Given the description of an element on the screen output the (x, y) to click on. 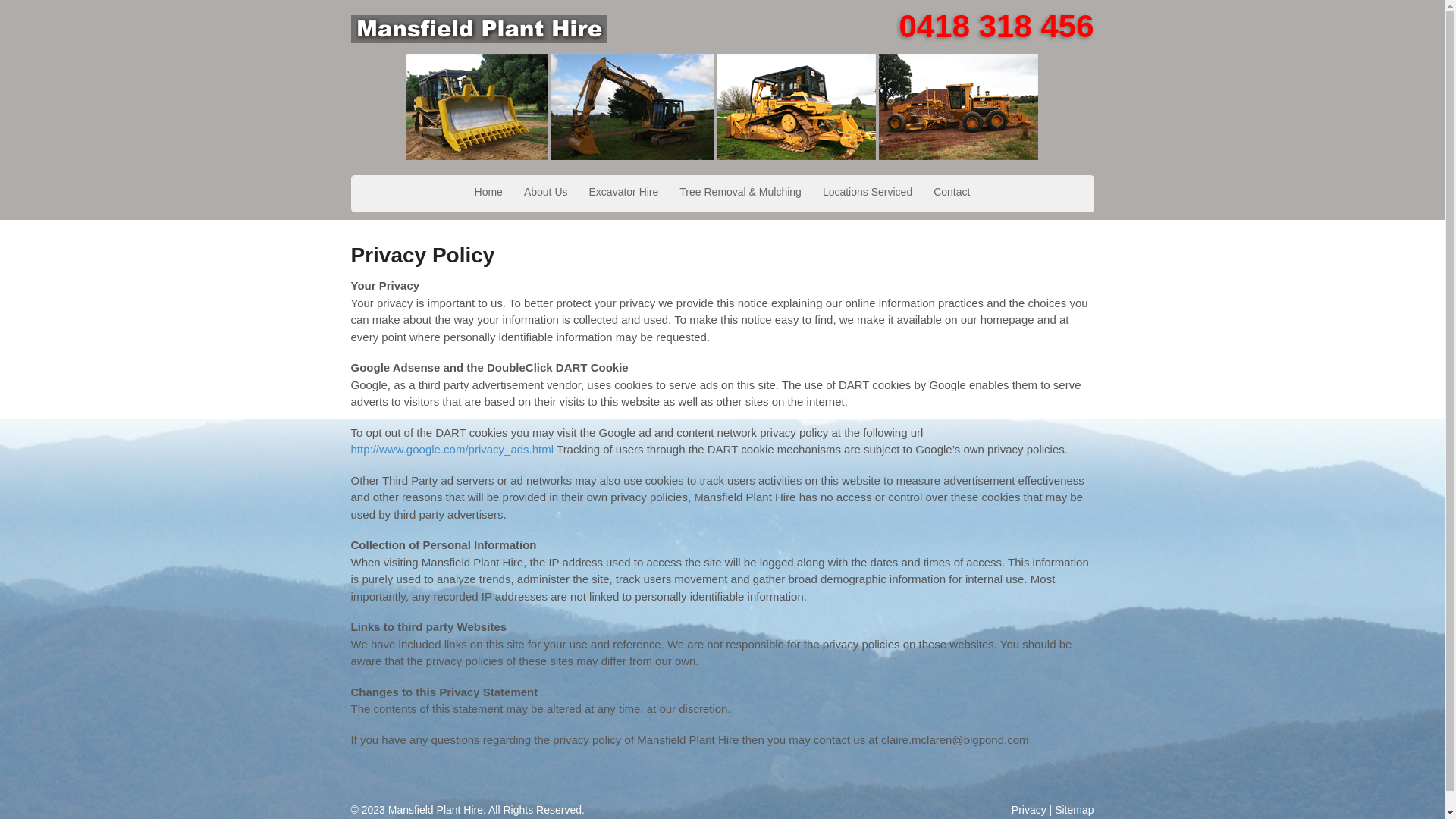
Privacy Element type: text (1028, 809)
http://www.google.com/privacy_ads.html Element type: text (451, 448)
Locations Serviced Element type: text (867, 192)
Contact Element type: text (951, 192)
Home Element type: text (488, 192)
Excavator Hire Element type: text (623, 192)
Tree Removal & Mulching Element type: text (740, 192)
0418 318 456 Element type: text (996, 25)
Sitemap Element type: text (1073, 809)
About Us Element type: text (545, 192)
